Given the description of an element on the screen output the (x, y) to click on. 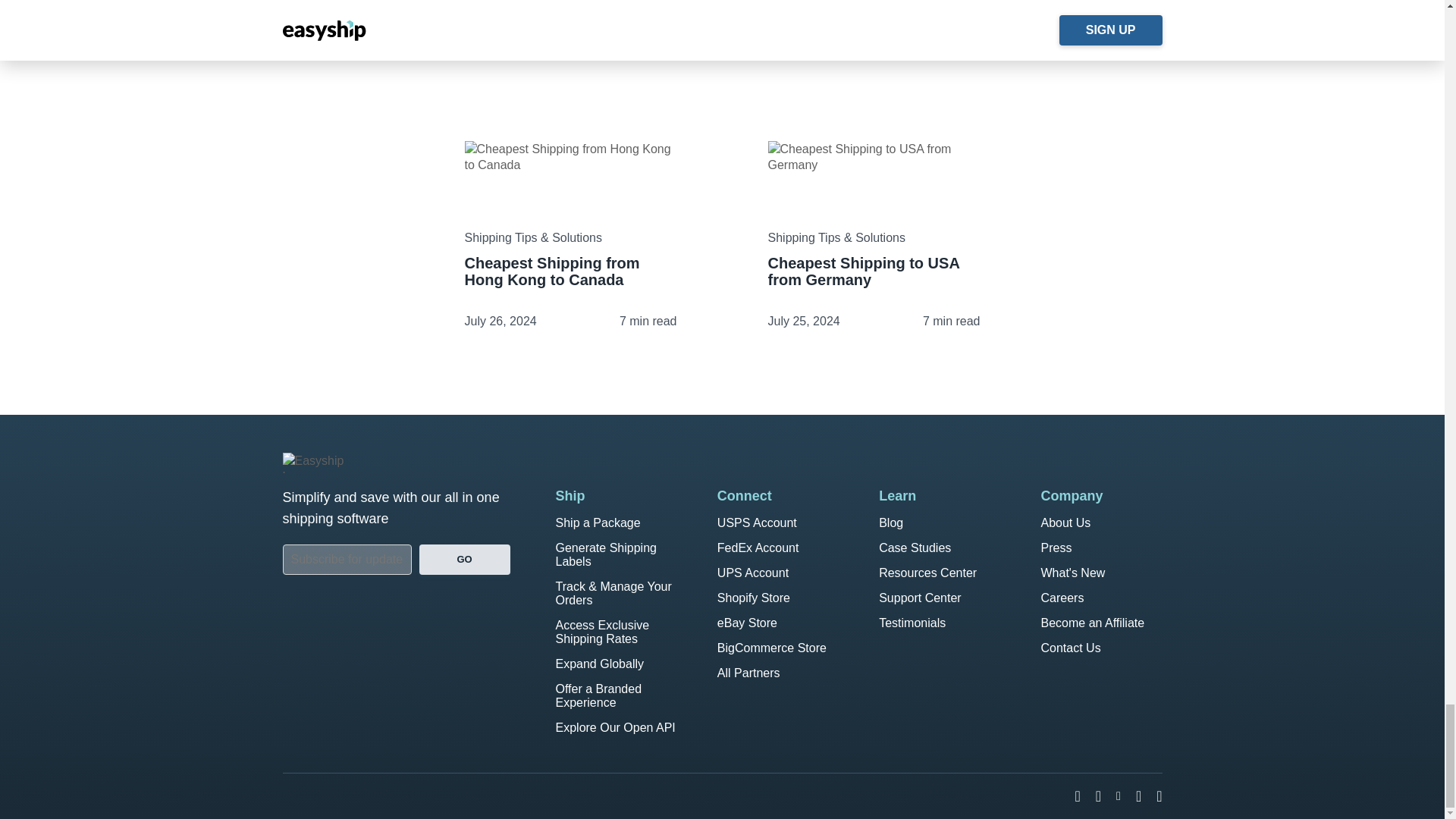
Ship a Package (597, 522)
Generate Shipping Labels (605, 554)
GO (464, 559)
